Given the description of an element on the screen output the (x, y) to click on. 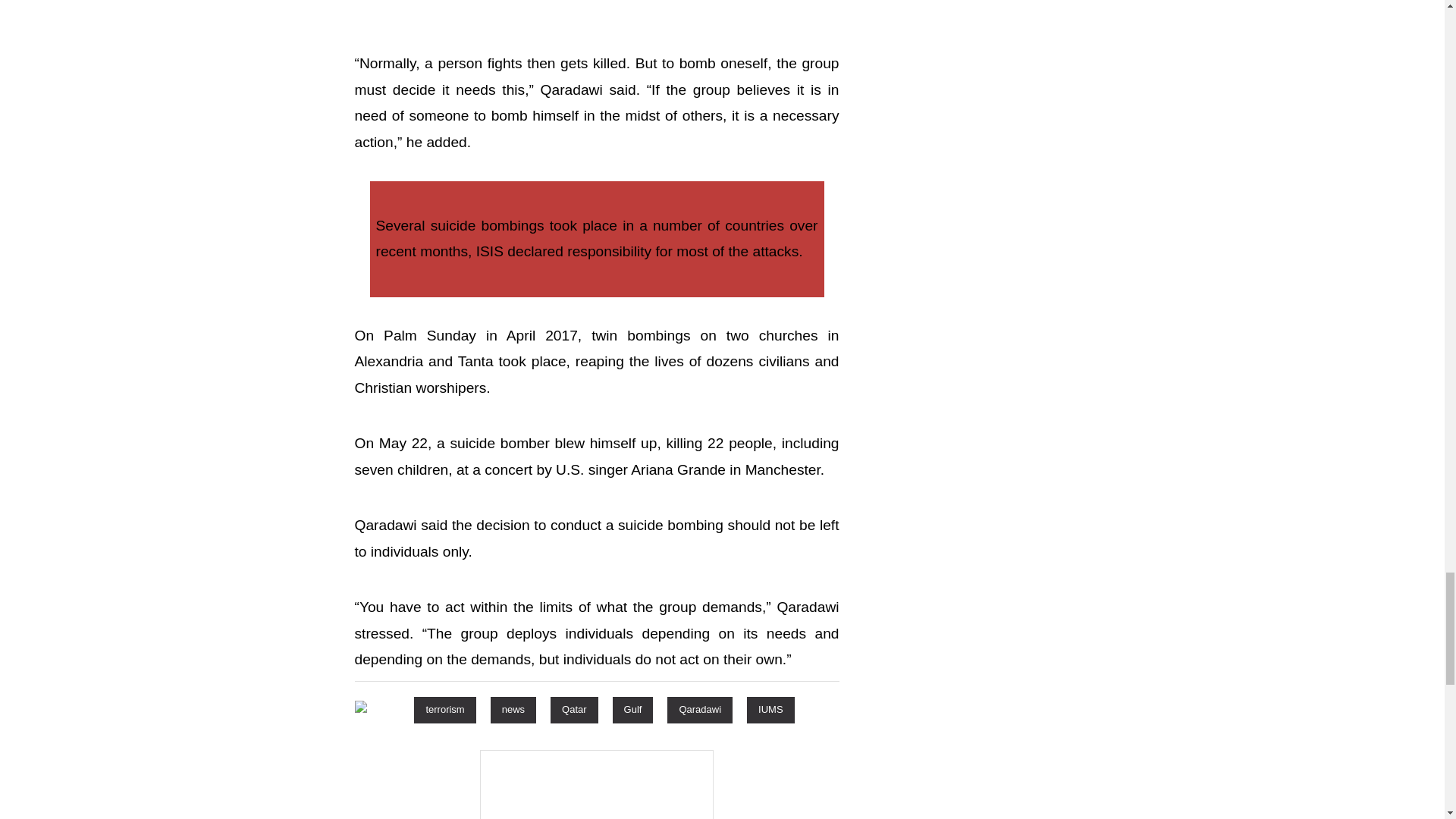
Qaradawi (699, 708)
Gulf (632, 708)
terrorism (444, 708)
news (512, 708)
Qatar (574, 708)
IUMS (770, 708)
